Given the description of an element on the screen output the (x, y) to click on. 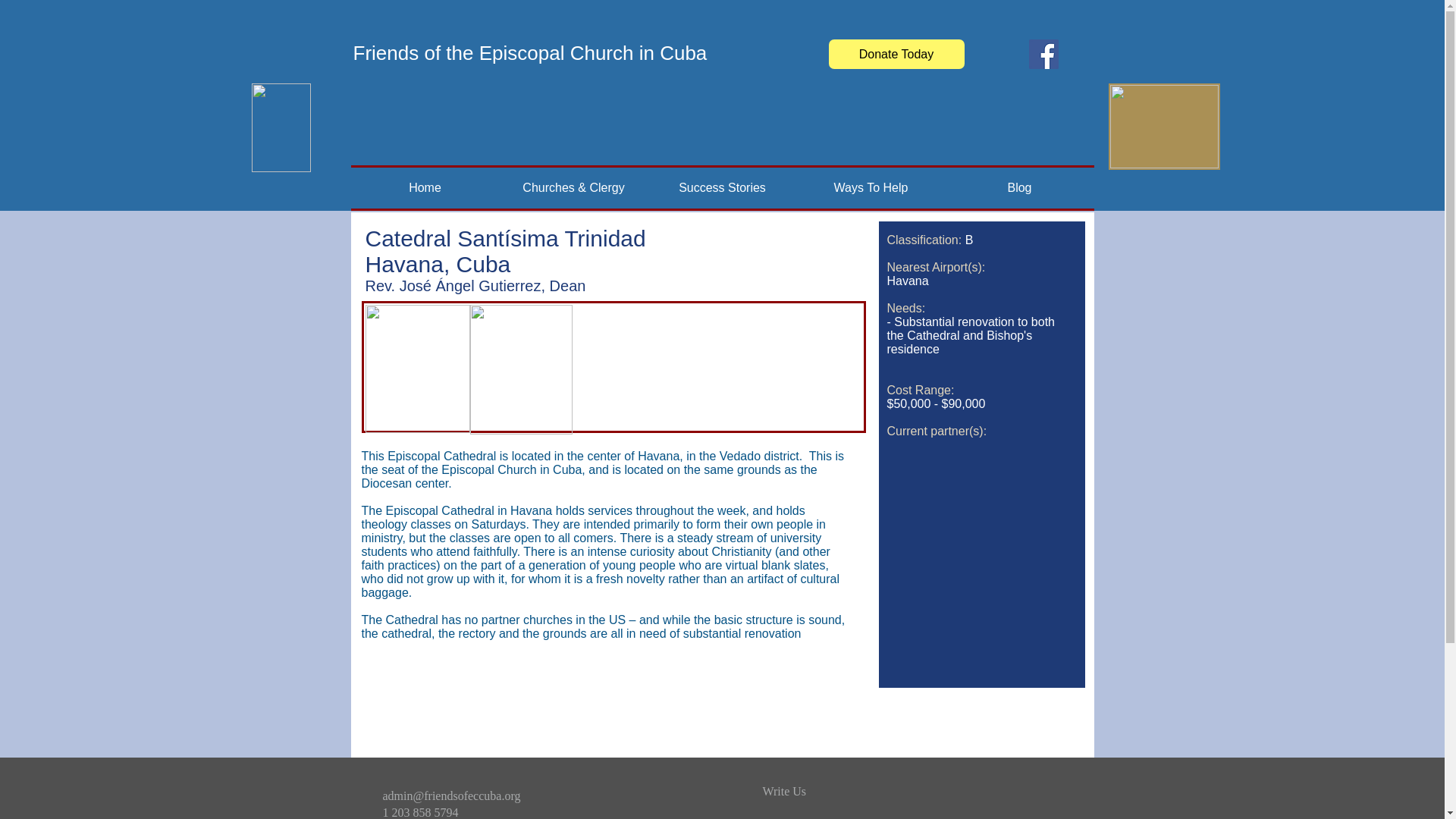
Blog (1018, 187)
Donate Today (895, 53)
Home (424, 187)
